Given the description of an element on the screen output the (x, y) to click on. 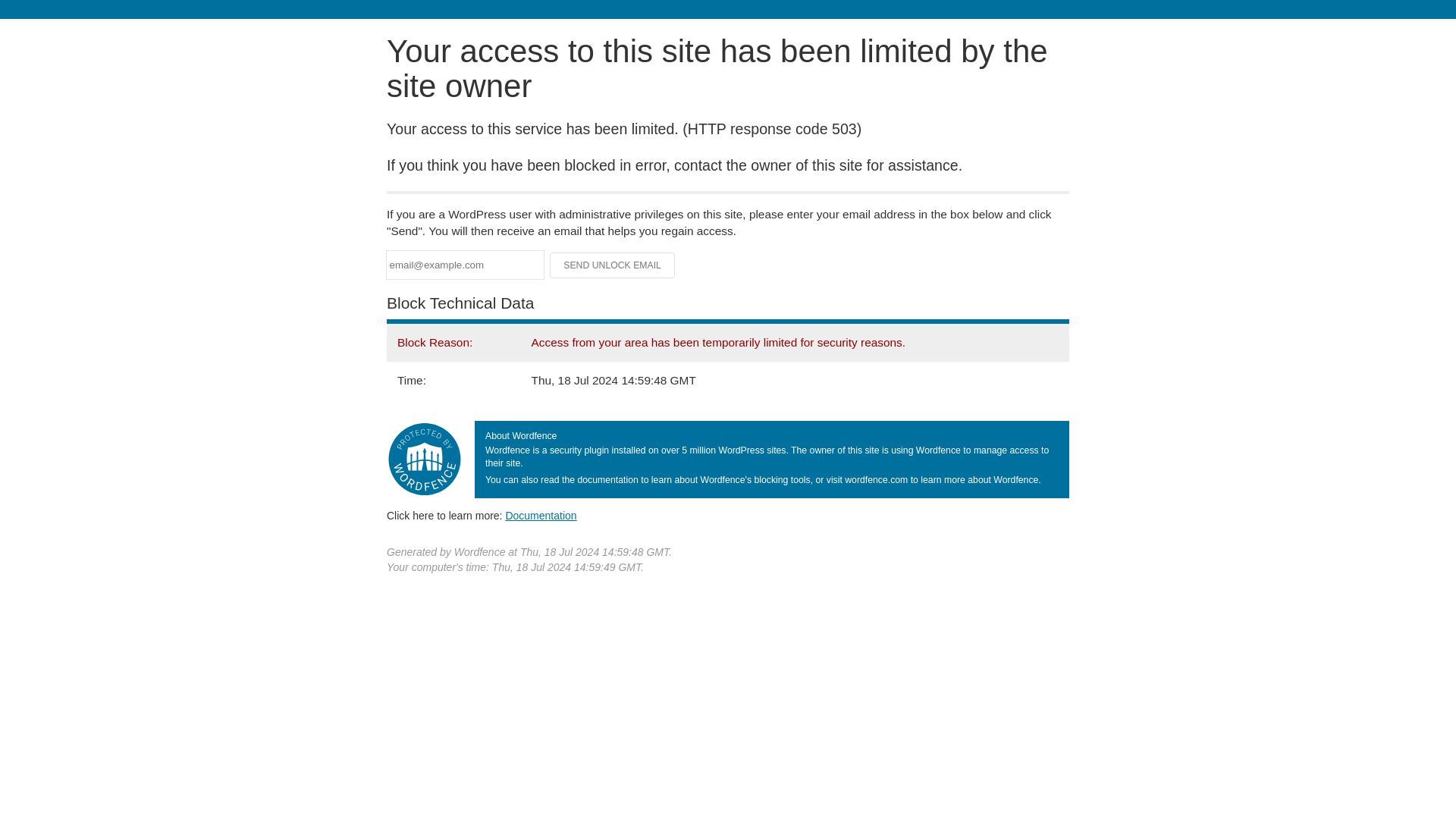
Documentation (540, 515)
Send Unlock Email (612, 265)
Send Unlock Email (612, 265)
